Given the description of an element on the screen output the (x, y) to click on. 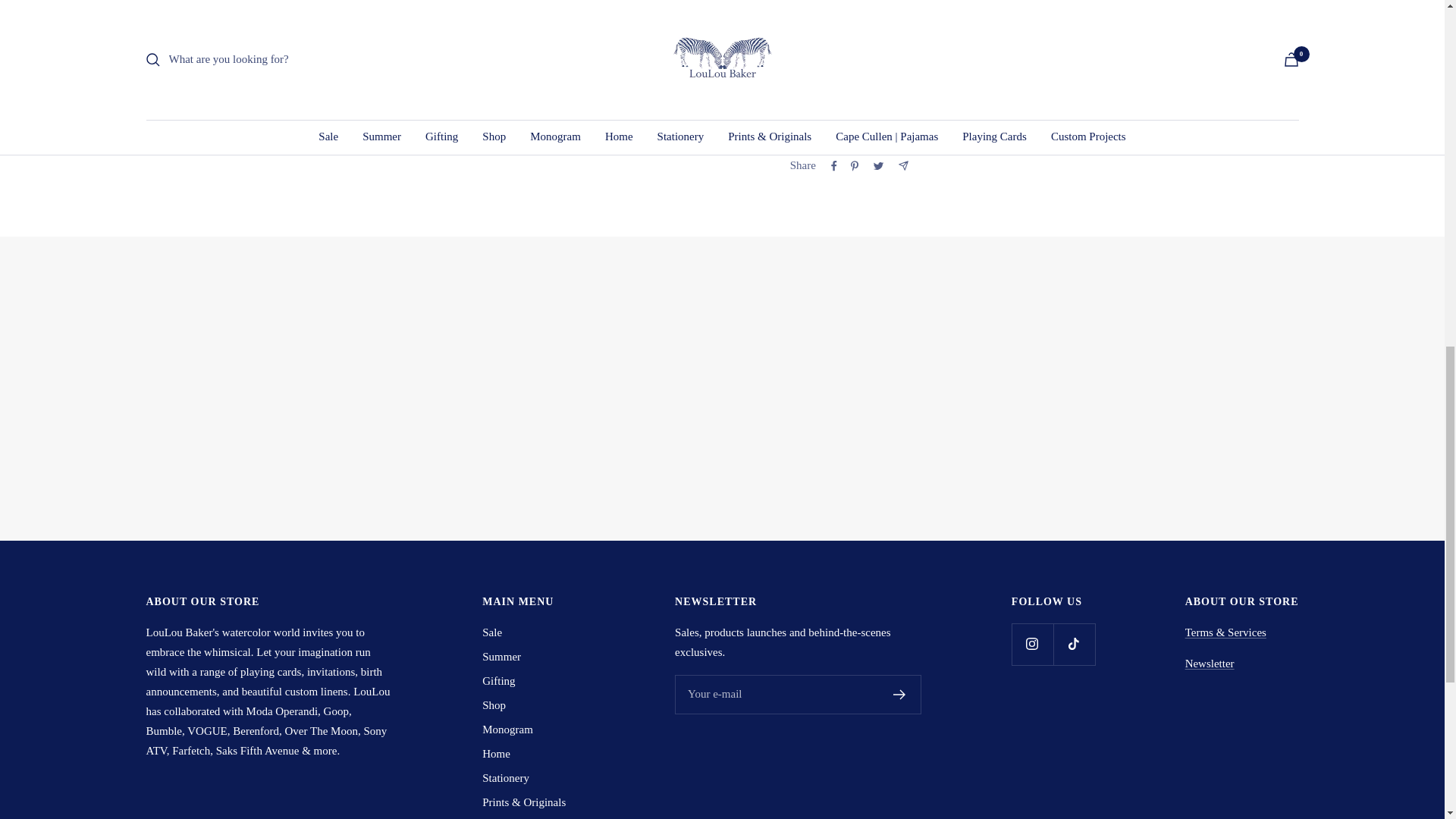
Register (899, 694)
1 (843, 9)
Decrease quantity (807, 9)
ADD TO CART (1015, 75)
Increase quantity (878, 9)
Newsletter (1209, 663)
